Given the description of an element on the screen output the (x, y) to click on. 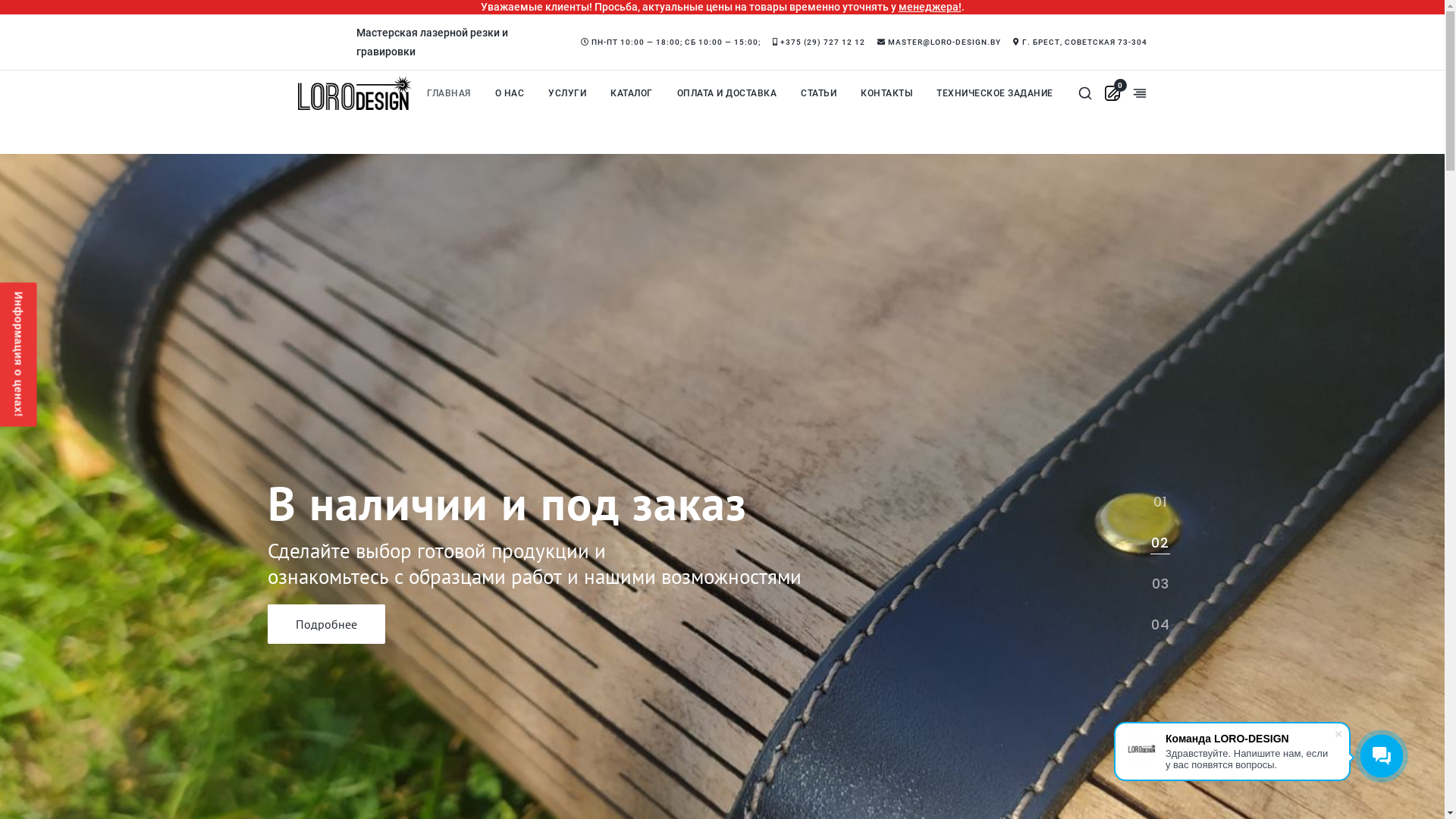
+375 (29) 727 12 12 Element type: text (818, 41)
MASTER@LORO-DESIGN.BY Element type: text (939, 41)
0 Element type: text (1112, 92)
